Given the description of an element on the screen output the (x, y) to click on. 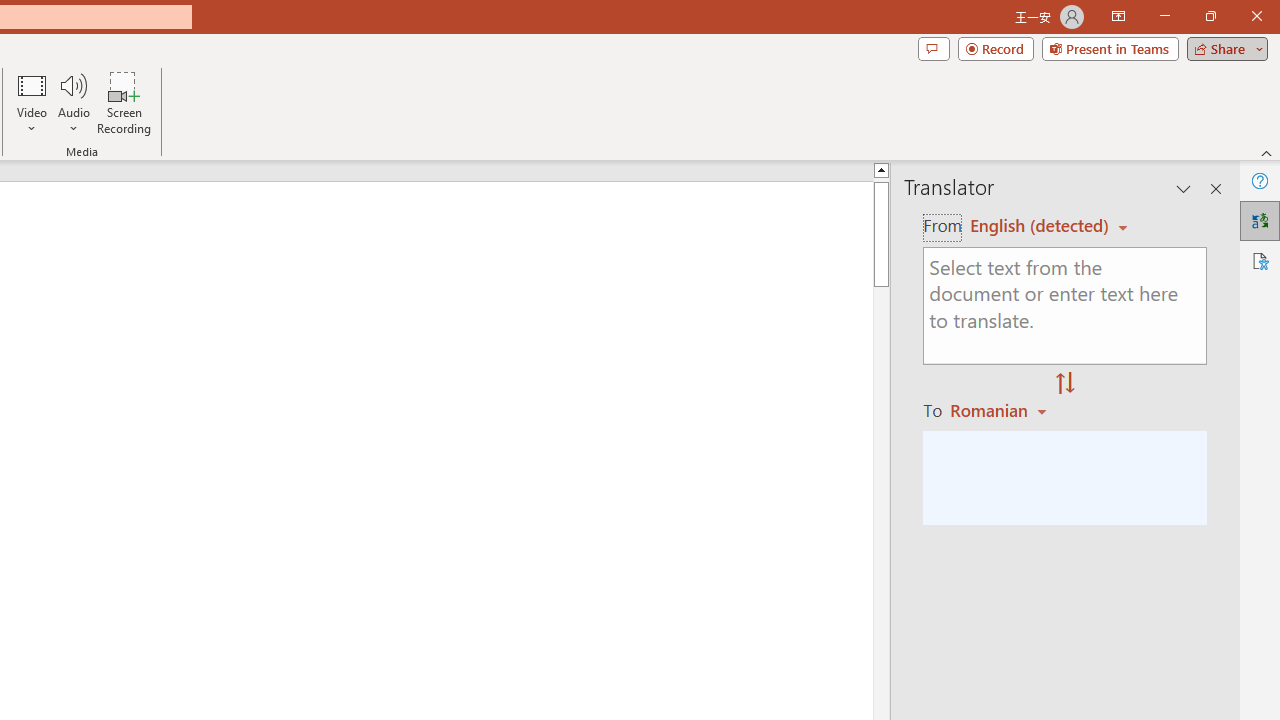
Screen Recording... (123, 102)
